Given the description of an element on the screen output the (x, y) to click on. 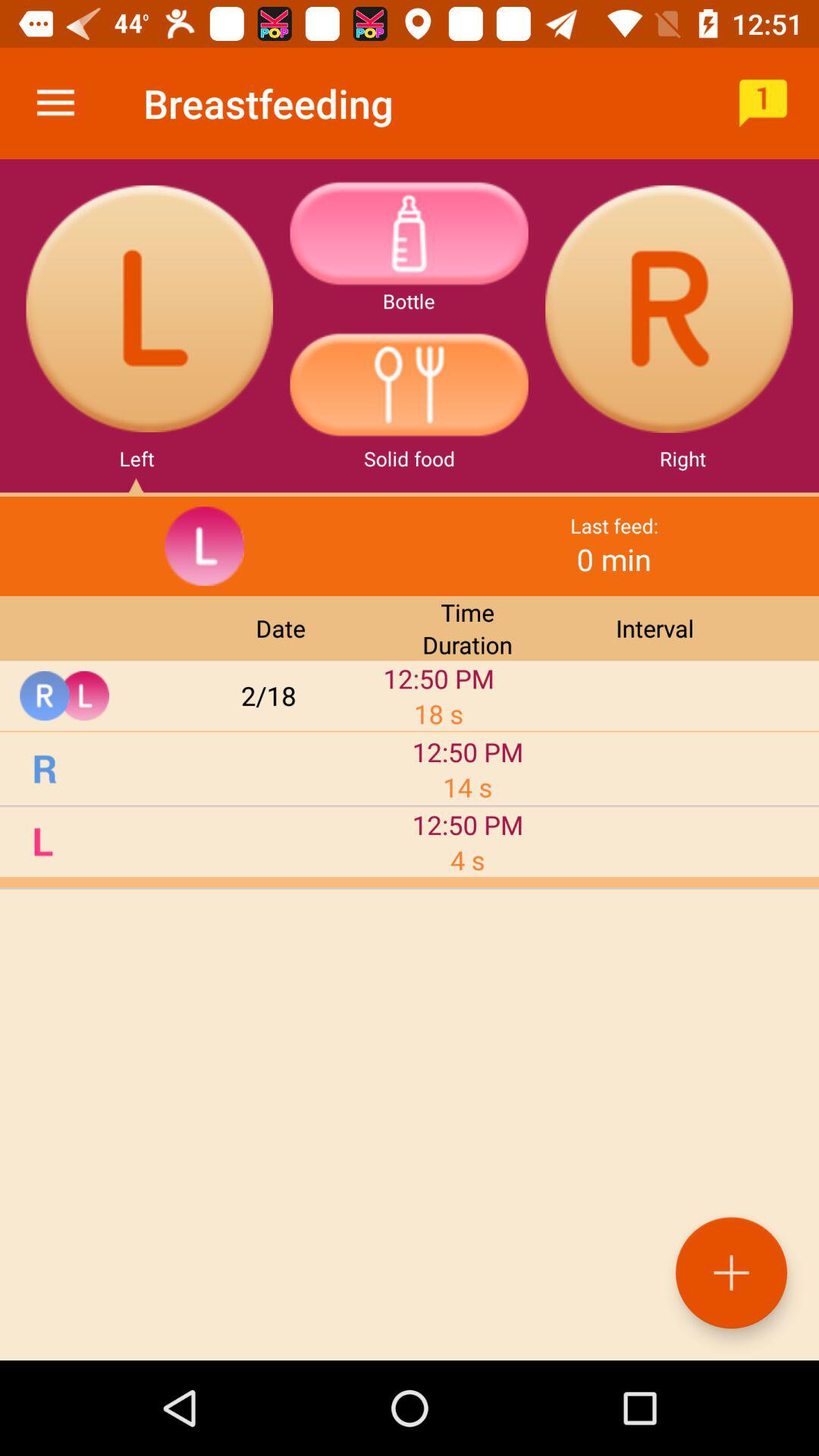
turn off the item next to the breastfeeding (55, 103)
